Given the description of an element on the screen output the (x, y) to click on. 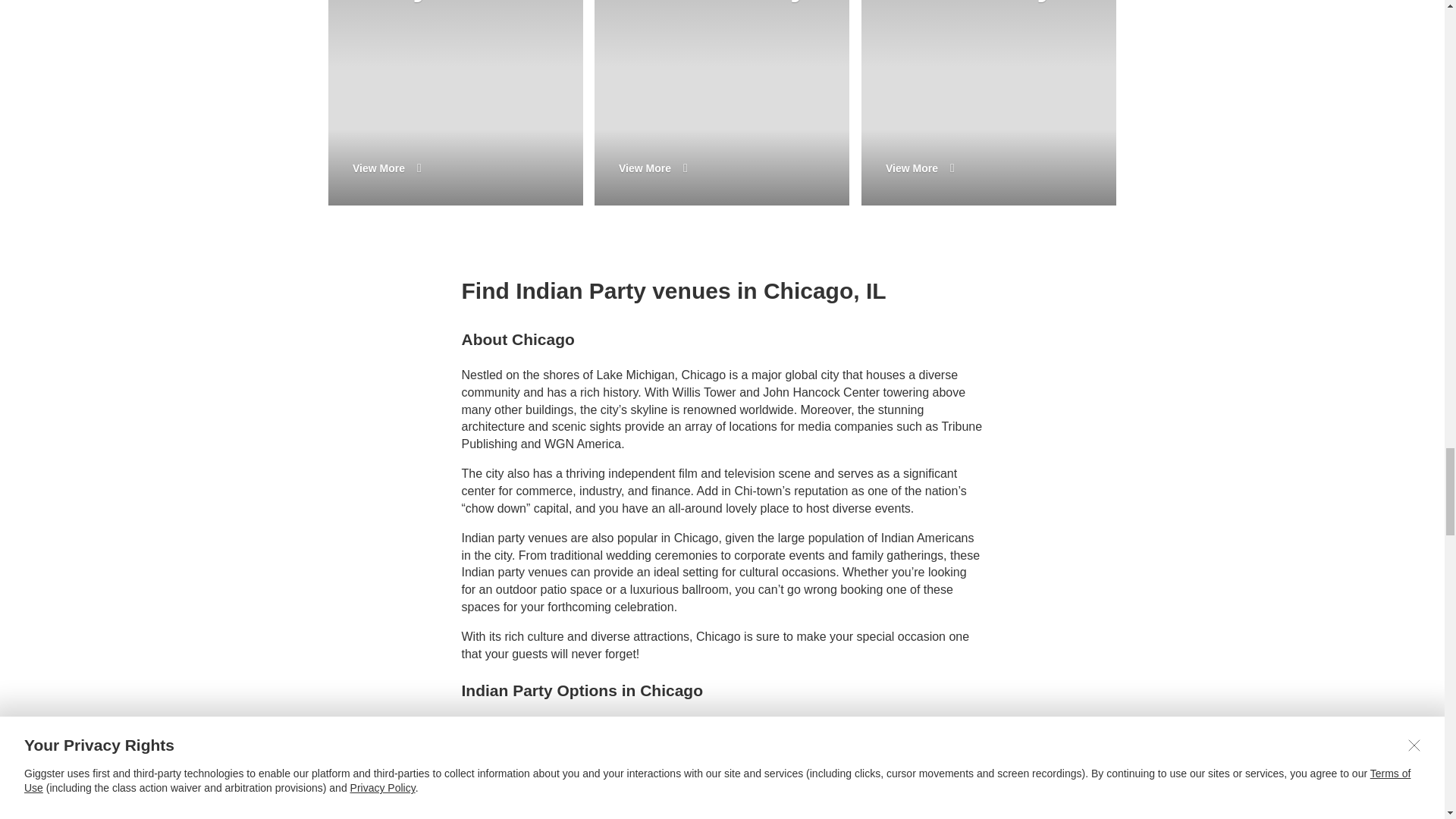
Party spaces in Chicago, IL (454, 102)
Small Party spaces in Chicago, IL (988, 102)
Private Party spaces in Chicago, IL (721, 102)
